Given the description of an element on the screen output the (x, y) to click on. 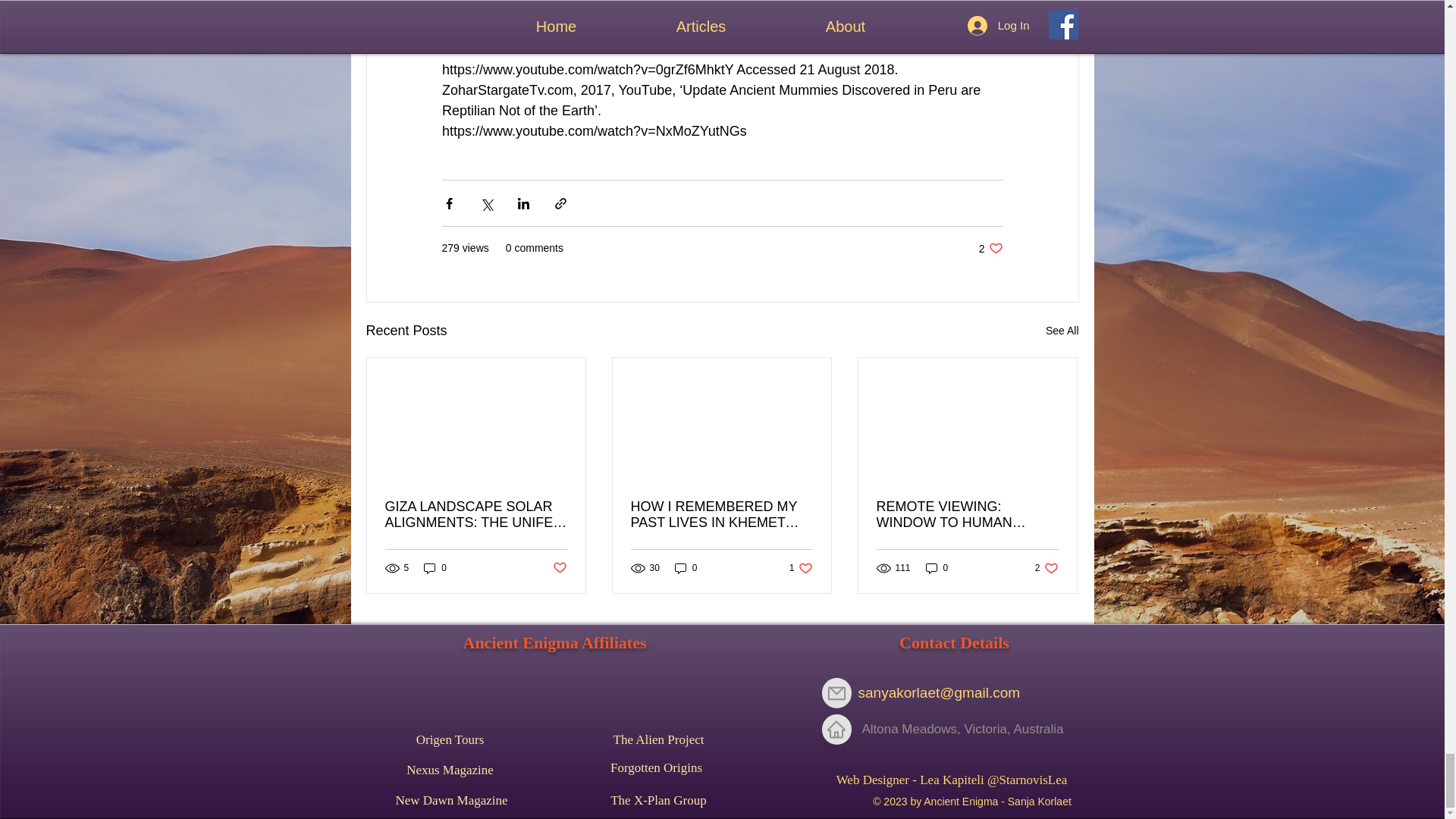
See All (1061, 331)
Forgotten Origins (655, 767)
Origen Tours (449, 739)
Post not marked as liked (558, 568)
0 (937, 568)
New Dawn Magazine (451, 800)
0 (685, 568)
The Alien Project (1046, 568)
GIZA LANDSCAPE SOLAR ALIGNMENTS: THE UNIFED GRAND PLAN (657, 739)
Altona Meadows, Victoria, Australia (476, 514)
The X-Plan Group (962, 729)
0 (657, 800)
Nexus Magazine (435, 568)
